Given the description of an element on the screen output the (x, y) to click on. 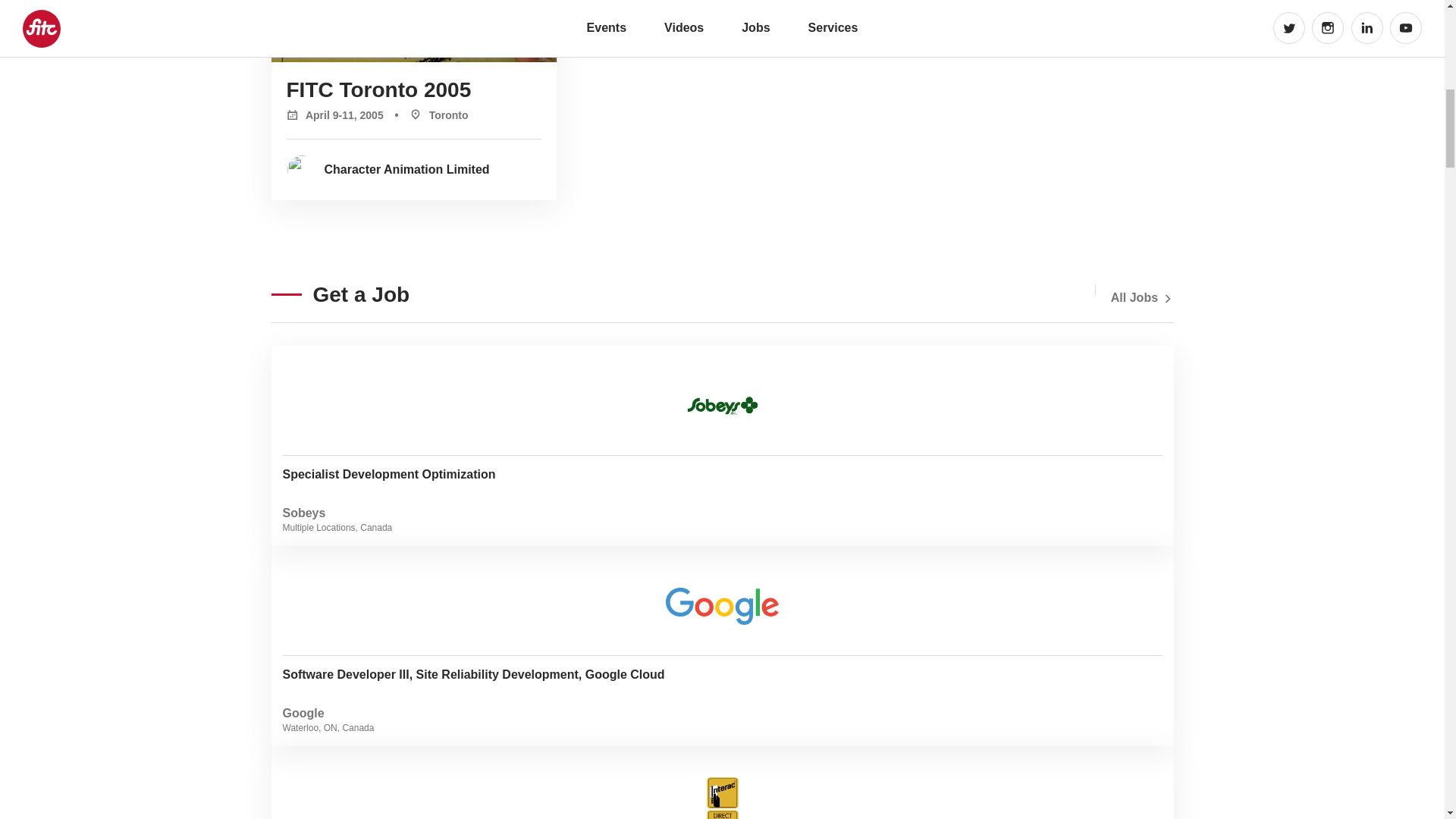
All Jobs (1141, 297)
Character Animation Limited (414, 169)
Toronto (427, 114)
FITC Toronto 2005 (722, 782)
